Given the description of an element on the screen output the (x, y) to click on. 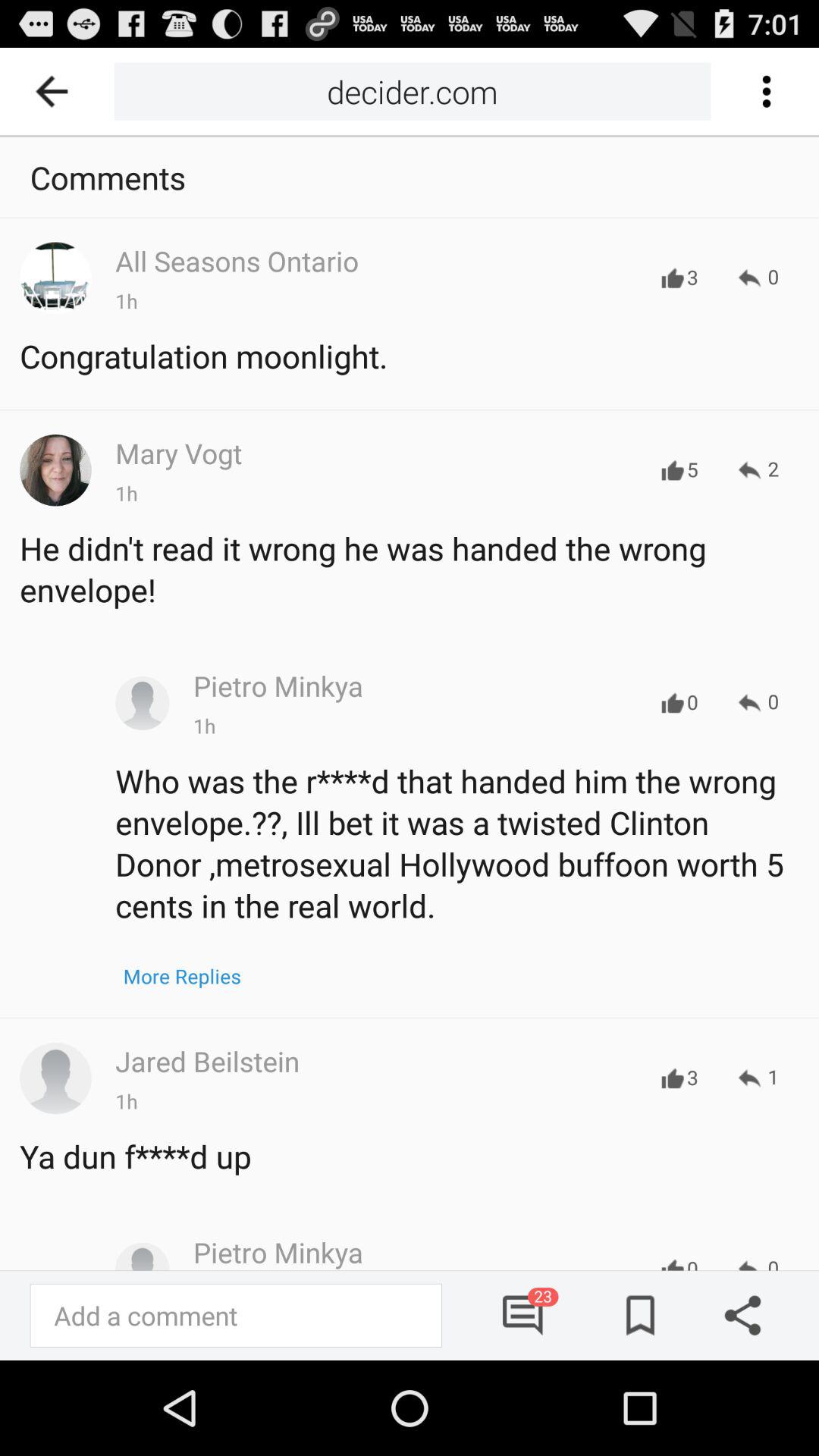
select the third profile icon (55, 1077)
click on the third profile icon (142, 703)
click on the more replies option (181, 975)
select the third reply icon (758, 702)
select the first forward option (758, 278)
select the notification icon at the bottom (523, 1315)
click on share icon which is at the bottom (737, 1315)
